Given the description of an element on the screen output the (x, y) to click on. 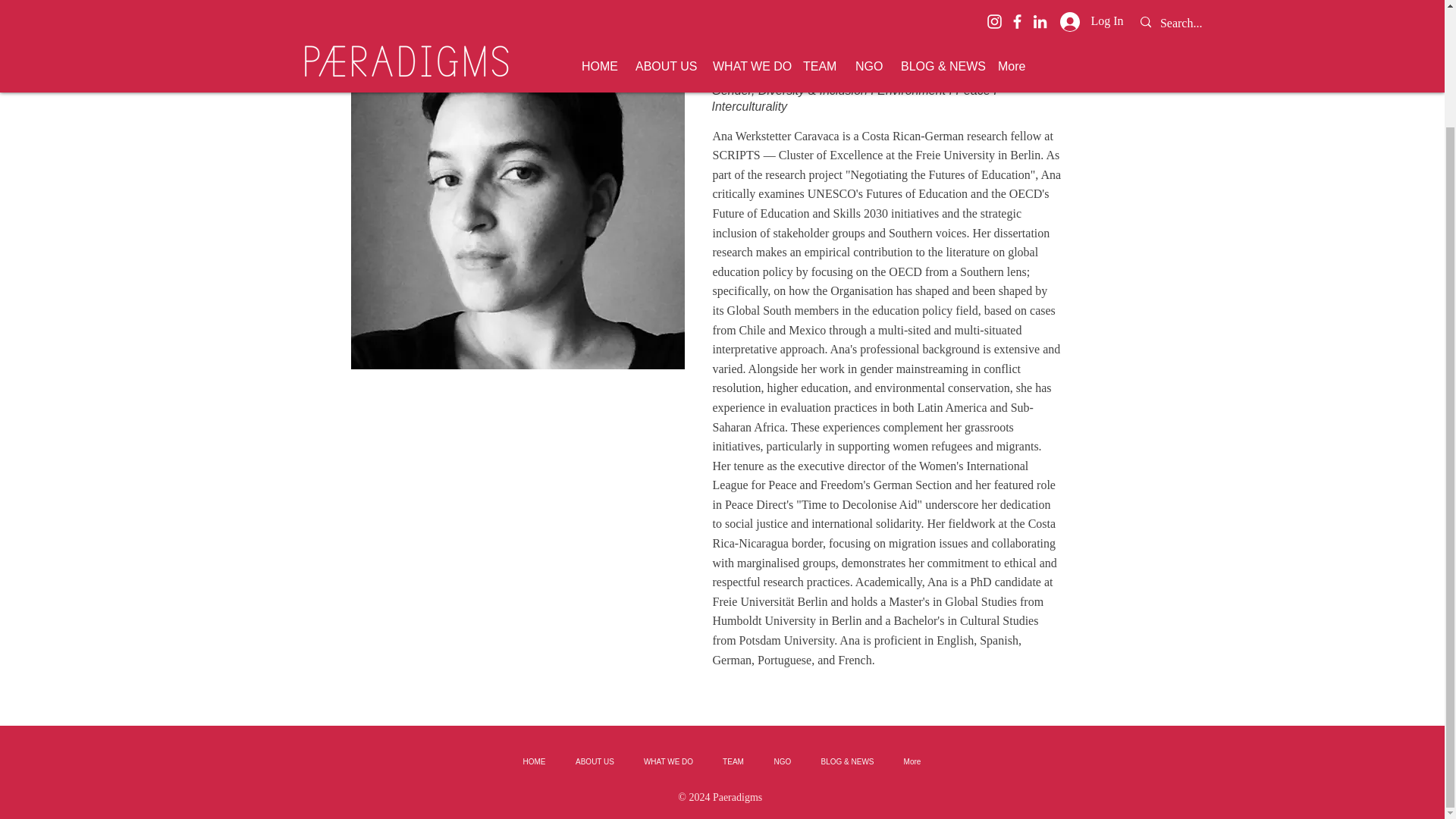
TEAM (732, 761)
Ana.jpg (517, 202)
NGO (782, 761)
HOME (534, 761)
ABOUT US (594, 761)
